Given the description of an element on the screen output the (x, y) to click on. 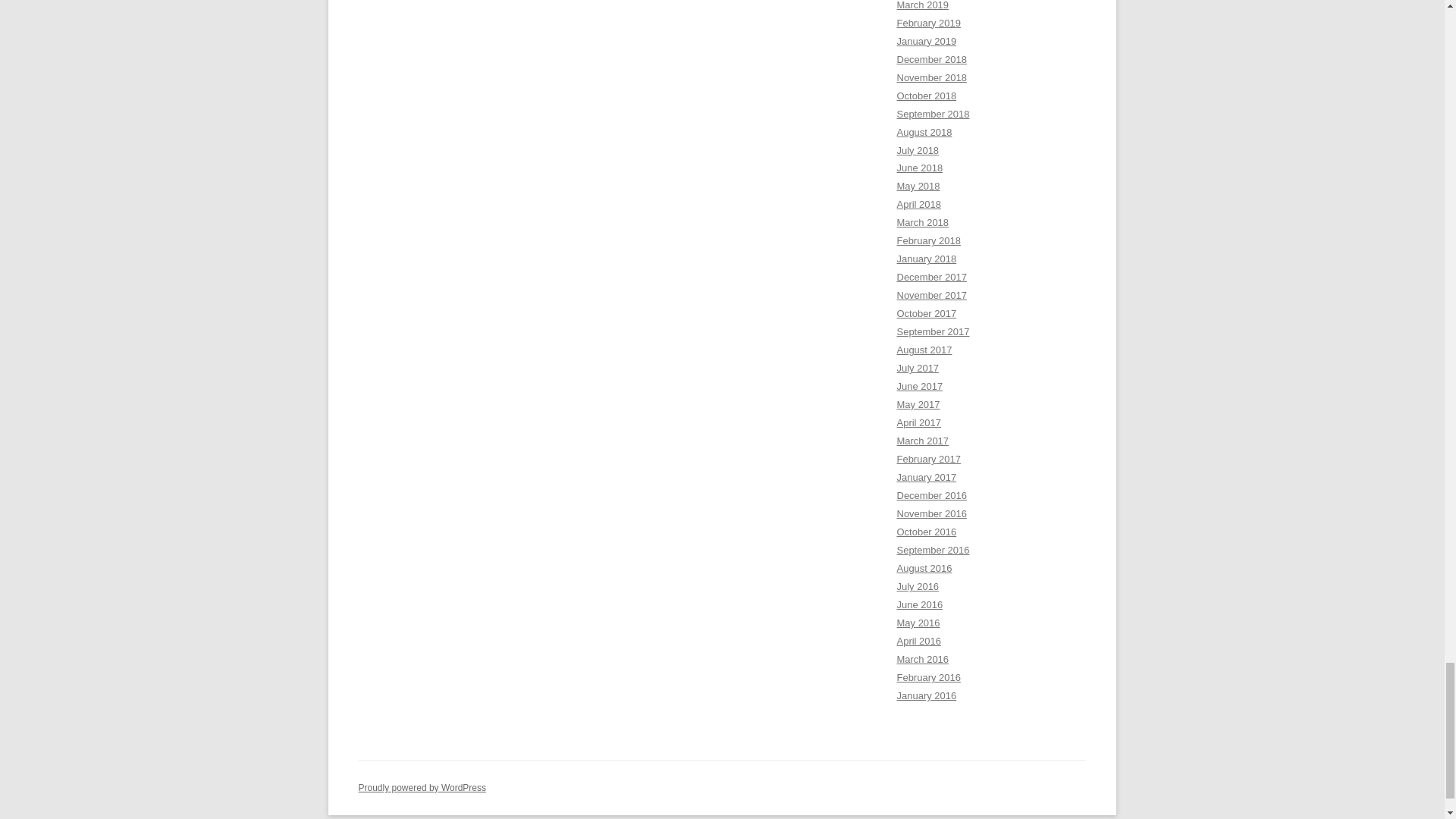
Semantic Personal Publishing Platform (422, 787)
